Given the description of an element on the screen output the (x, y) to click on. 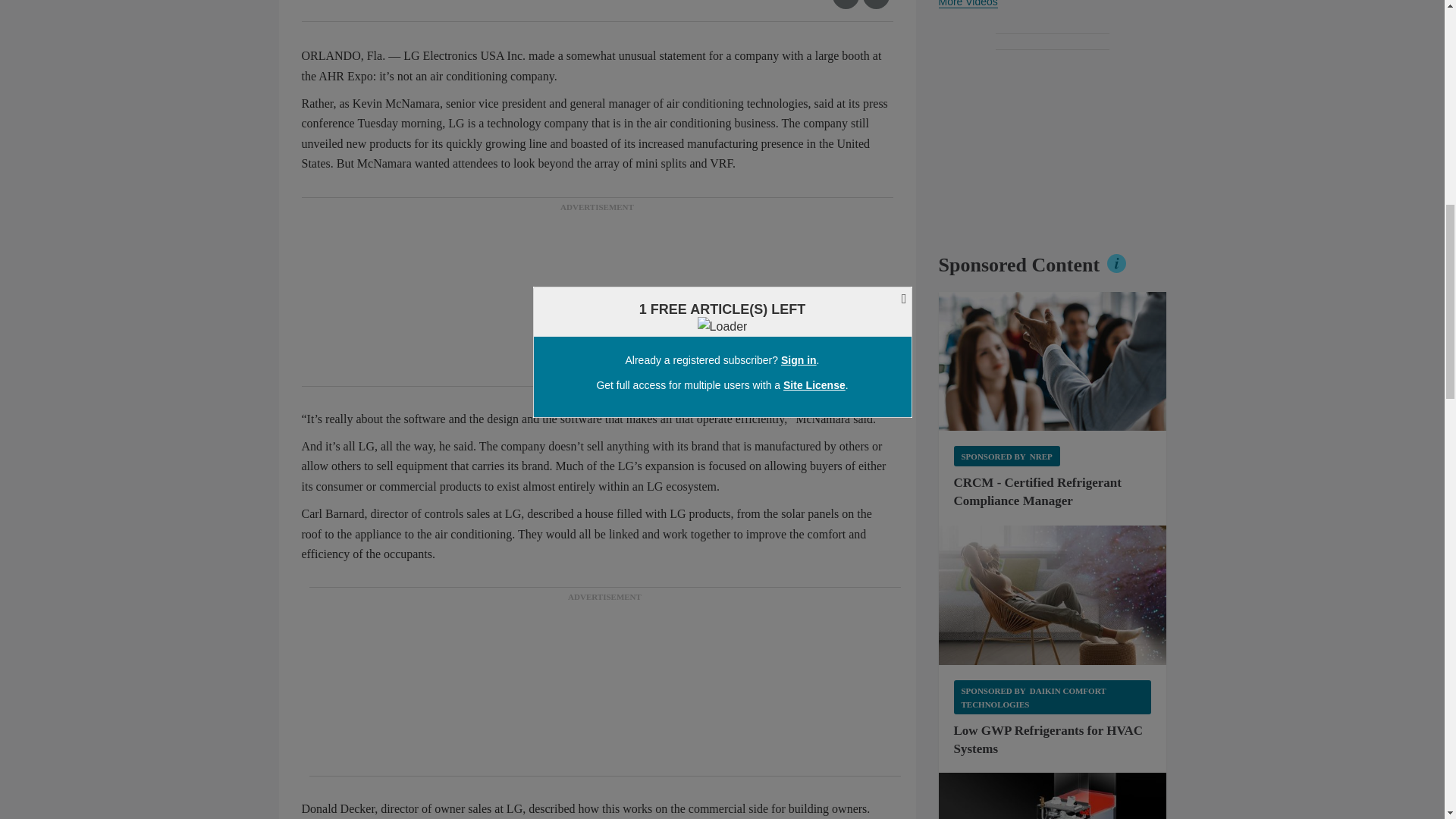
Hydronic Forced Air Furnace Diagram (1052, 796)
Sponsored by Daikin Comfort Technologies (1052, 697)
CRCM Certified Refrigerant Compliance Manager (1052, 361)
Daiken Refrigerants (1052, 595)
Sponsored by NREP (1006, 455)
